Given the description of an element on the screen output the (x, y) to click on. 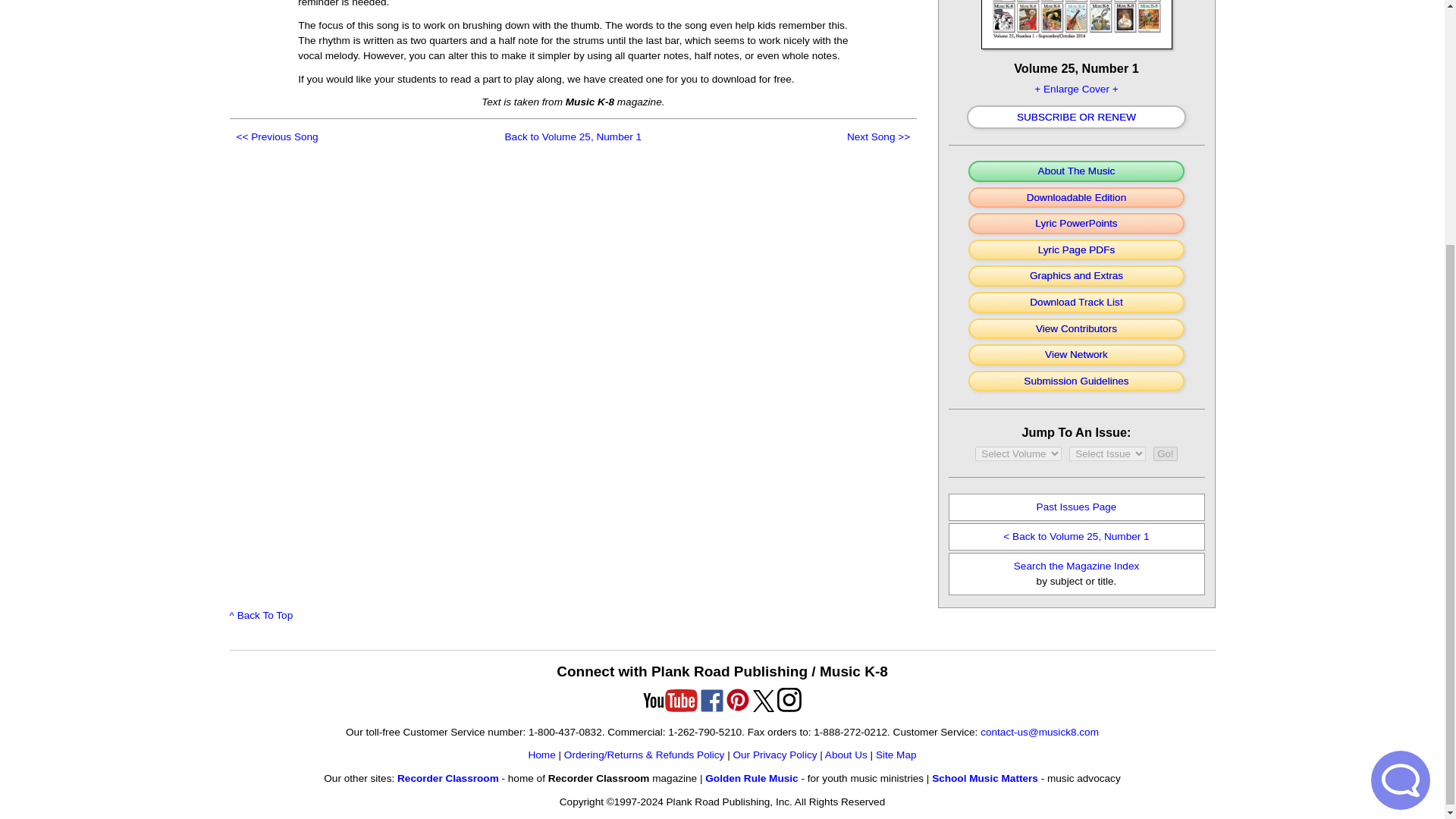
YouTube (670, 700)
Go! (1164, 453)
Facebook (711, 700)
Instagram (789, 699)
Pinterest (737, 699)
